Given the description of an element on the screen output the (x, y) to click on. 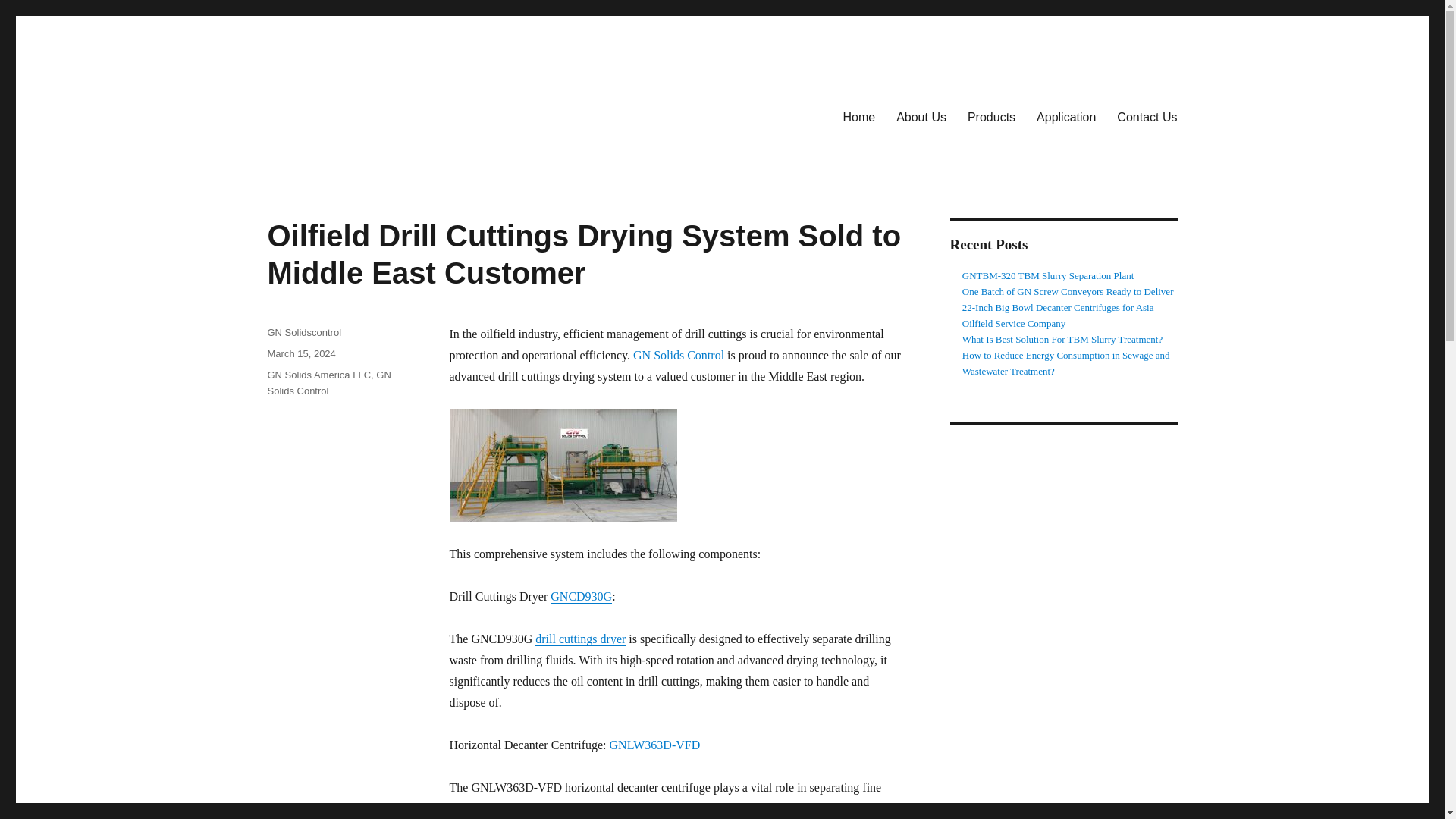
GNCD930G (580, 595)
What Is Best Solution For TBM Slurry Treatment? (1061, 338)
About Us (920, 116)
GN Solidscontrol (303, 332)
GN Solids Control (678, 354)
GNTBM-320 TBM Slurry Separation Plant (1048, 275)
GNLW363D-VFD (655, 744)
Application (1066, 116)
